Given the description of an element on the screen output the (x, y) to click on. 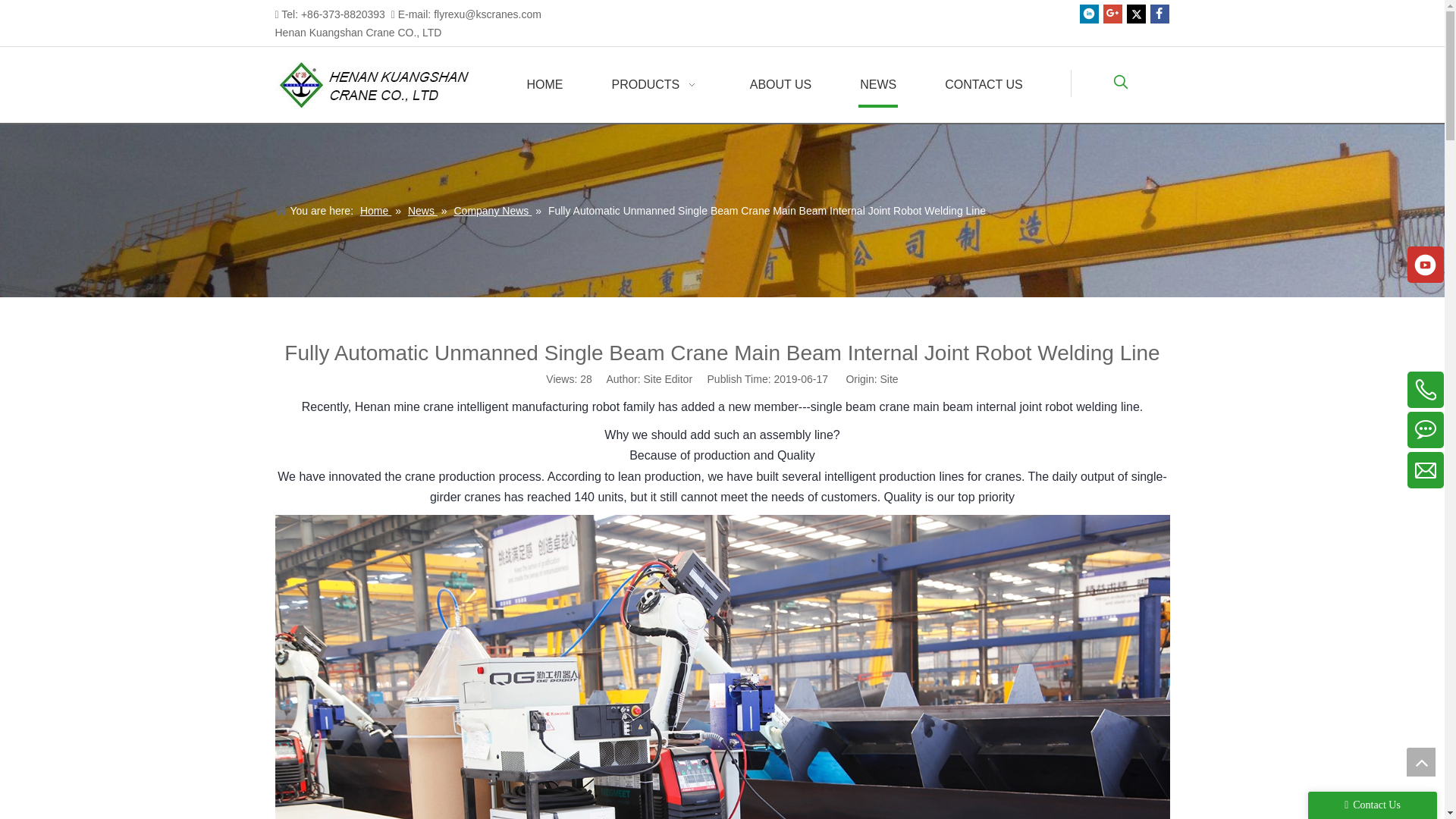
PRODUCTS   (655, 84)
ABOUT US (780, 84)
Linkedin (1089, 13)
Site (889, 378)
News (422, 210)
Facebook (1159, 13)
Company News (491, 210)
CONTACT US (984, 84)
Henan KuangShan Crane Co., LTD (380, 84)
Twitter (1135, 13)
Home (375, 210)
